Given the description of an element on the screen output the (x, y) to click on. 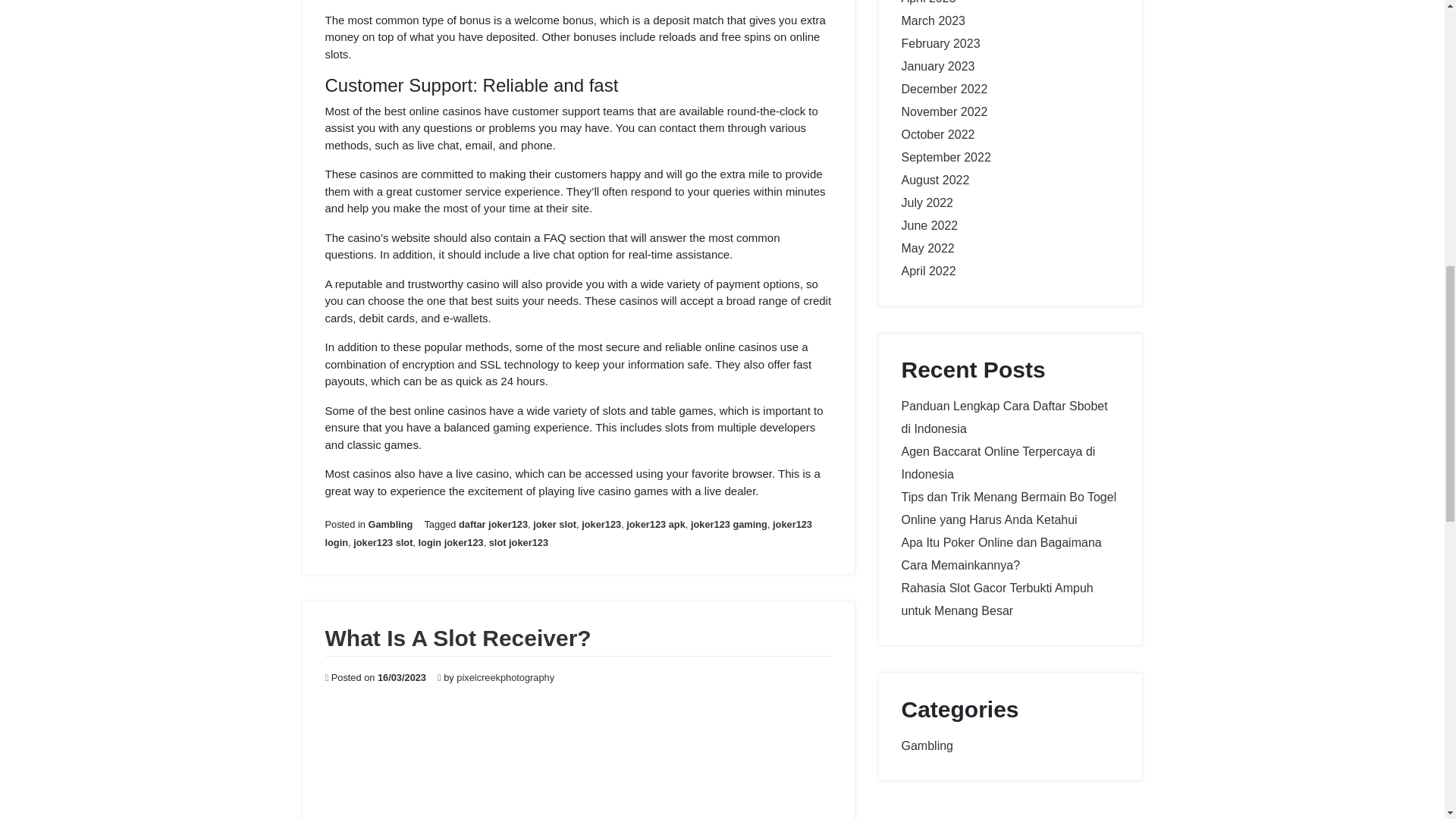
pixelcreekphotography (505, 677)
login joker123 (451, 542)
joker slot (554, 523)
Gambling (390, 523)
joker123 gaming (728, 523)
joker123 (600, 523)
joker123 slot (382, 542)
joker123 login (567, 532)
What Is A Slot Receiver? (457, 637)
daftar joker123 (492, 523)
joker123 apk (655, 523)
slot joker123 (518, 542)
